Given the description of an element on the screen output the (x, y) to click on. 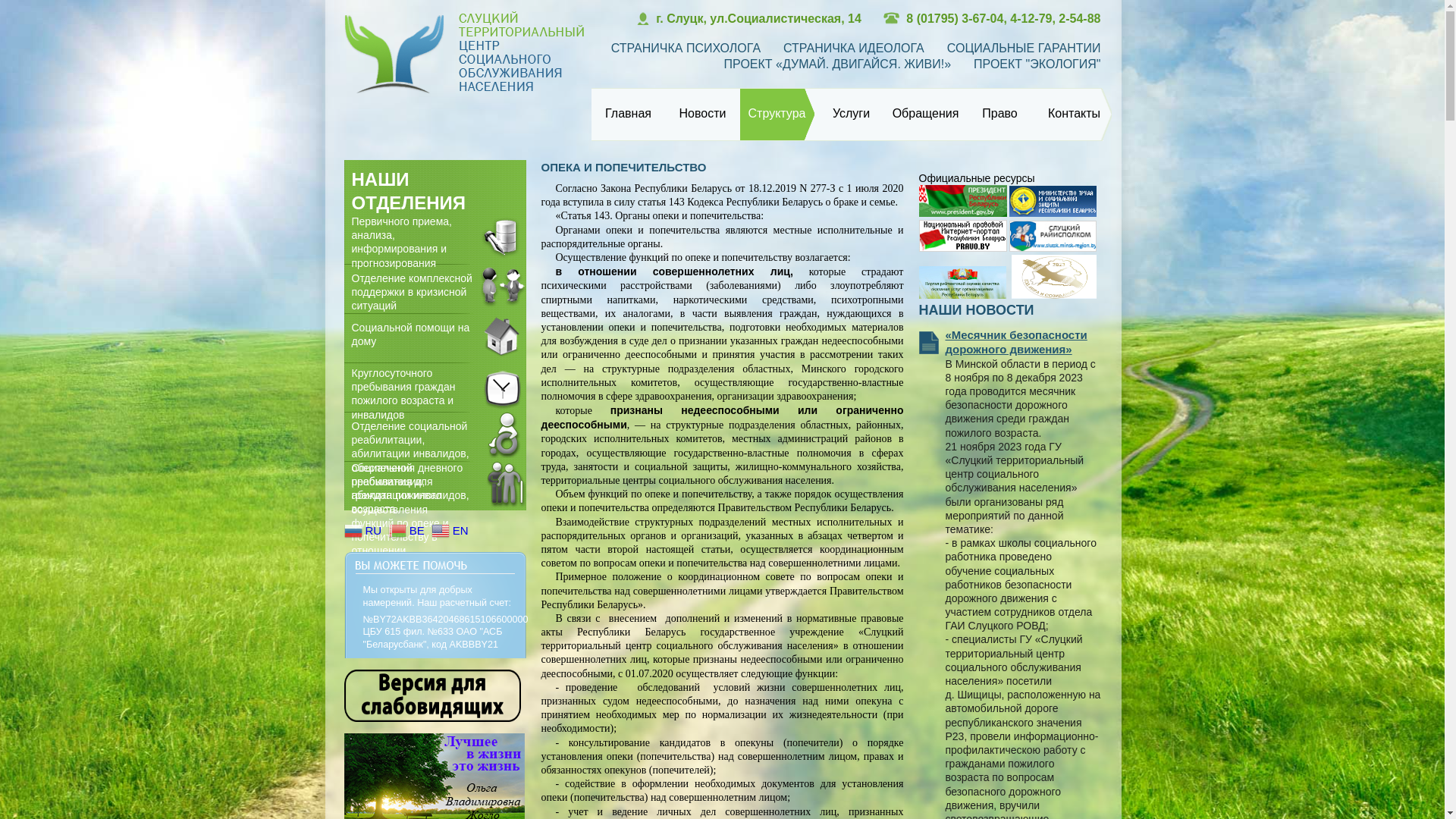
EN Element type: text (451, 530)
RU Element type: text (364, 530)
BE Element type: text (408, 530)
